Given the description of an element on the screen output the (x, y) to click on. 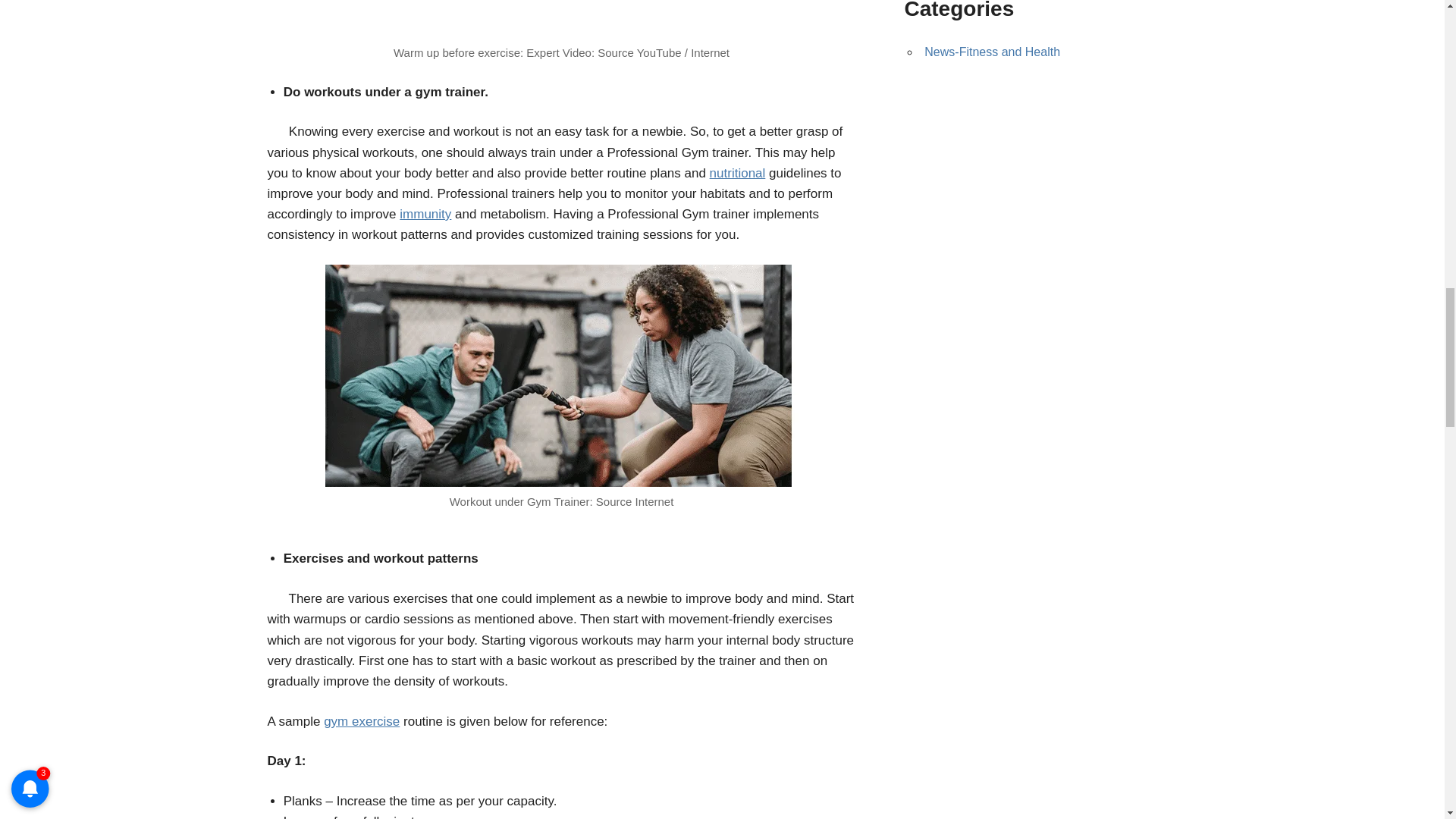
nutritional (737, 173)
gym exercise (360, 721)
immunity (424, 214)
How to warm up before exercise (561, 19)
